Given the description of an element on the screen output the (x, y) to click on. 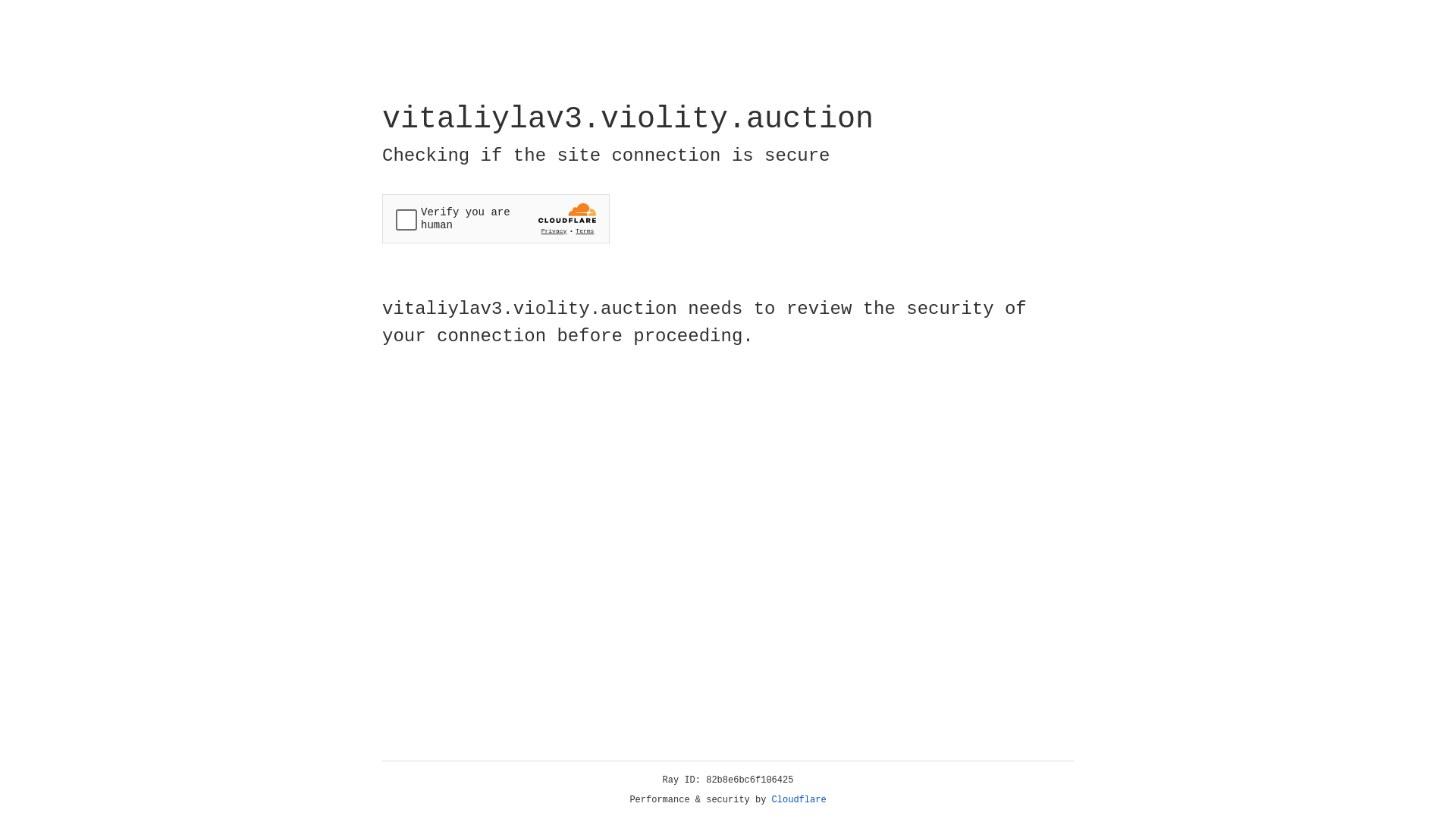
Cloudflare Element type: text (798, 799)
Widget containing a Cloudflare security challenge Element type: hover (495, 218)
